Given the description of an element on the screen output the (x, y) to click on. 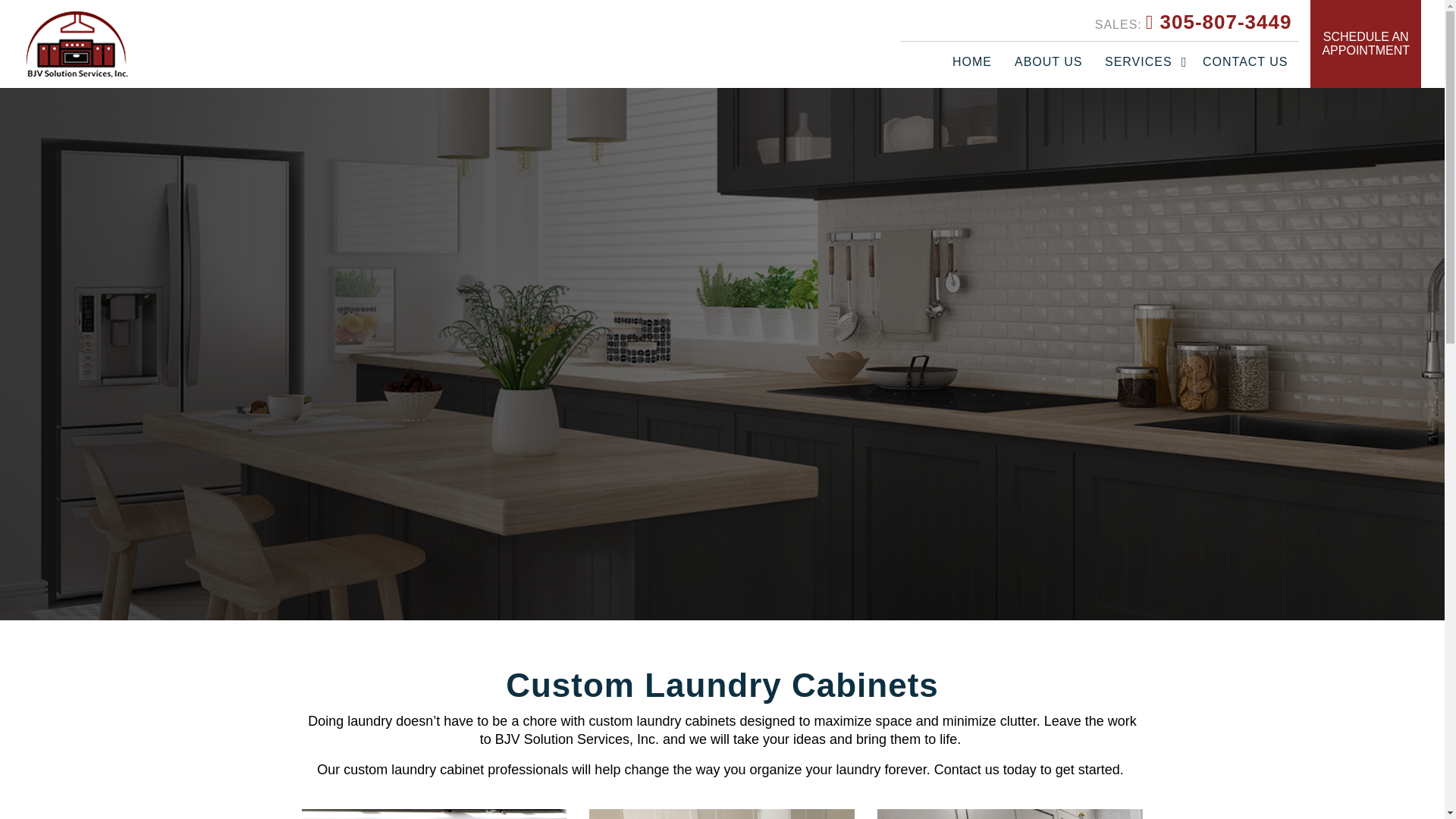
HOME (971, 61)
CONTACT US (1245, 61)
SALES: 305-807-3449 (1193, 22)
SERVICES (1142, 61)
ABOUT US (1048, 61)
